Given the description of an element on the screen output the (x, y) to click on. 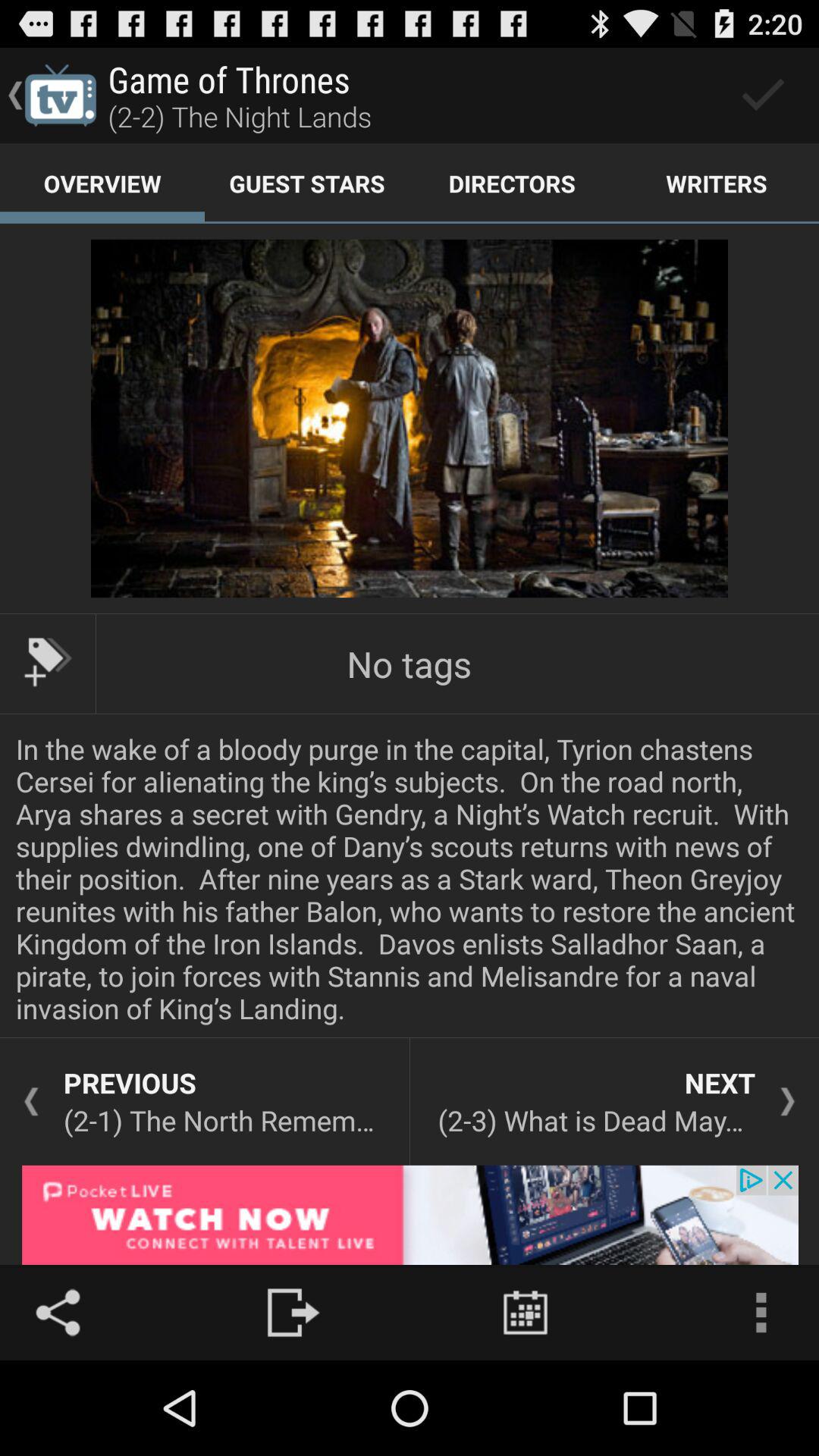
select image (409, 418)
